Given the description of an element on the screen output the (x, y) to click on. 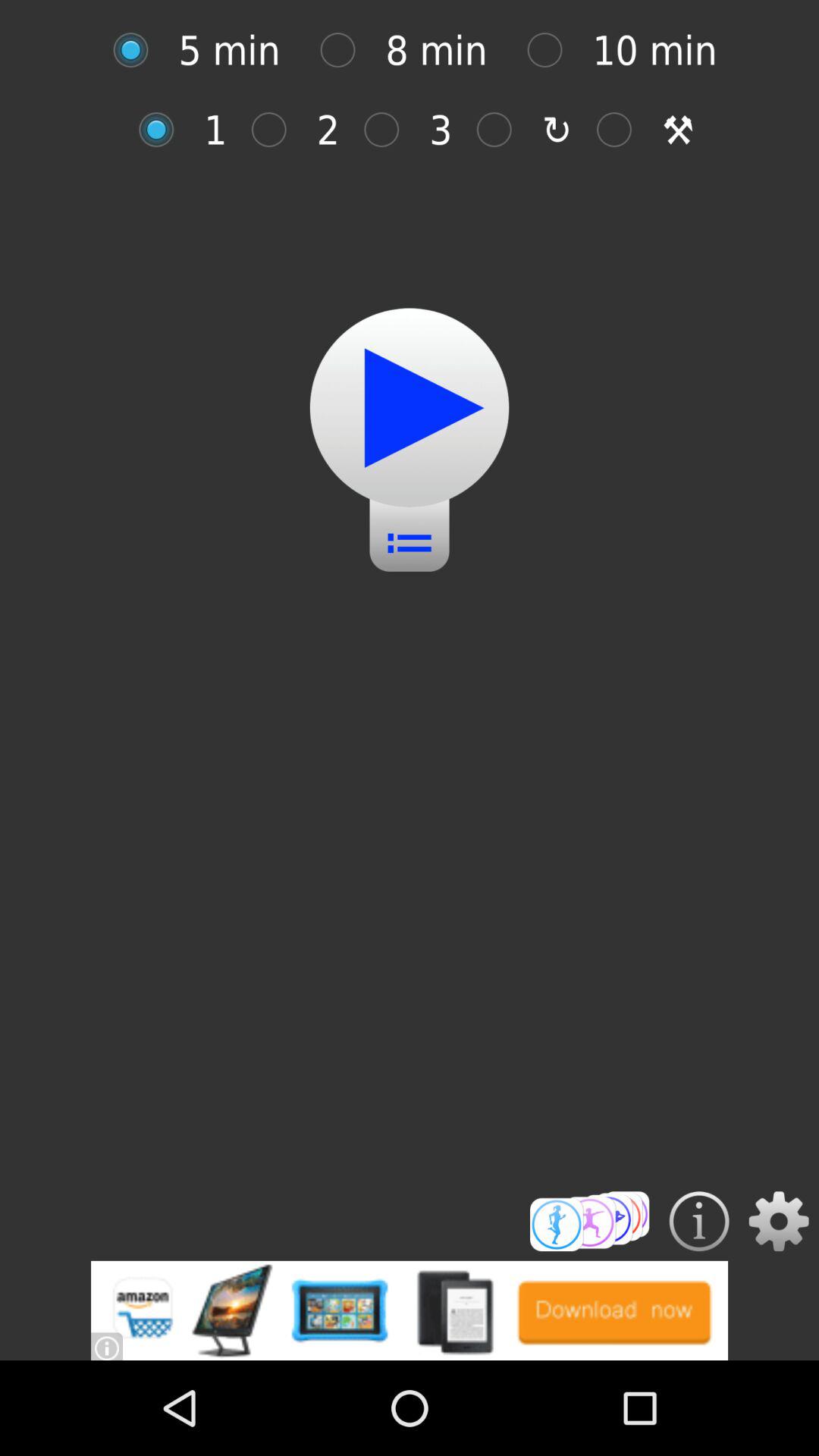
selection button (389, 129)
